Given the description of an element on the screen output the (x, y) to click on. 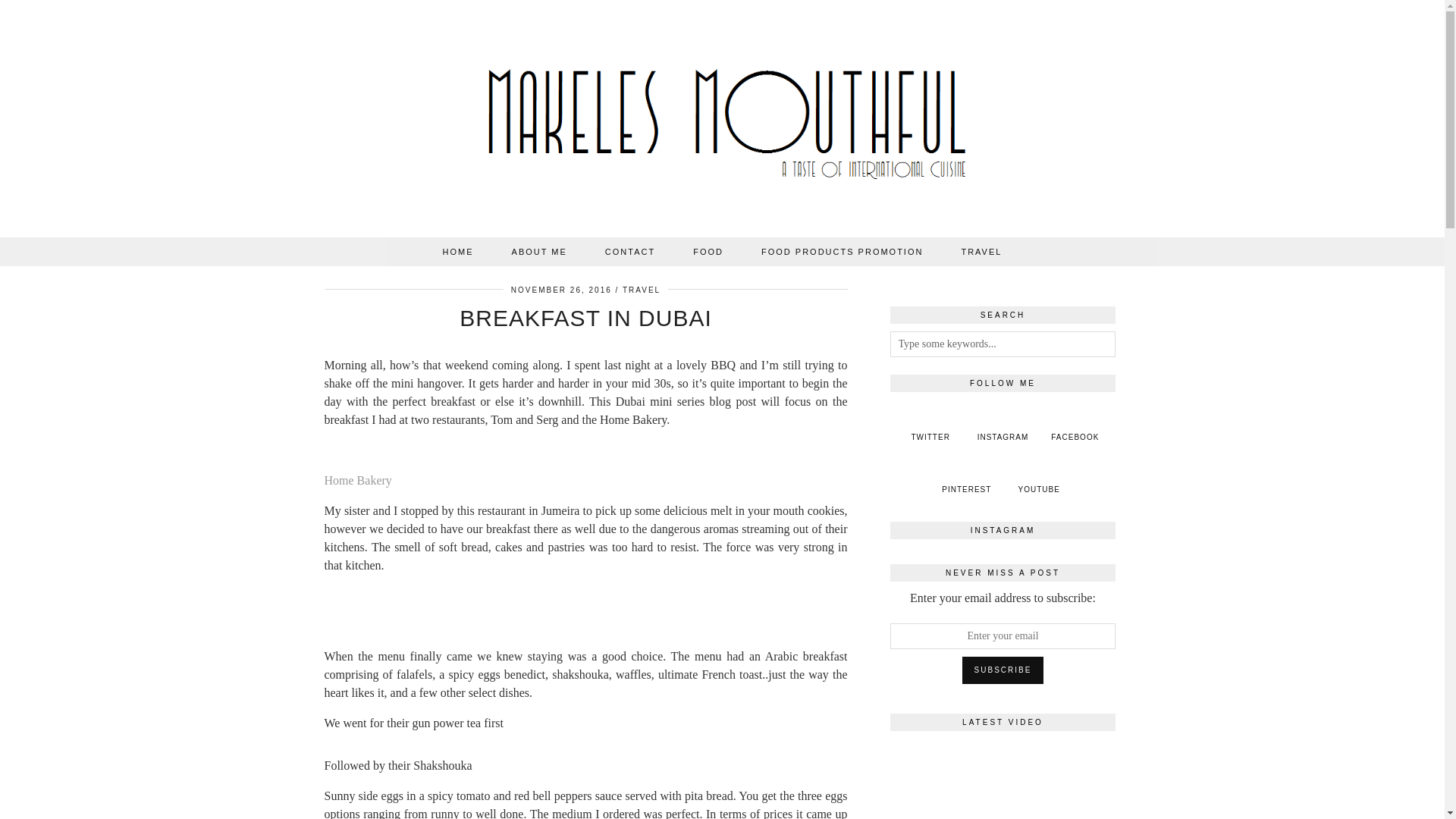
FOOD PRODUCTS PROMOTION (842, 251)
HOME (458, 251)
TRAVEL (981, 251)
ABOUT ME (539, 251)
CONTACT (630, 251)
Subscribe (1002, 669)
Home Bakery (357, 480)
FOOD (708, 251)
